Given the description of an element on the screen output the (x, y) to click on. 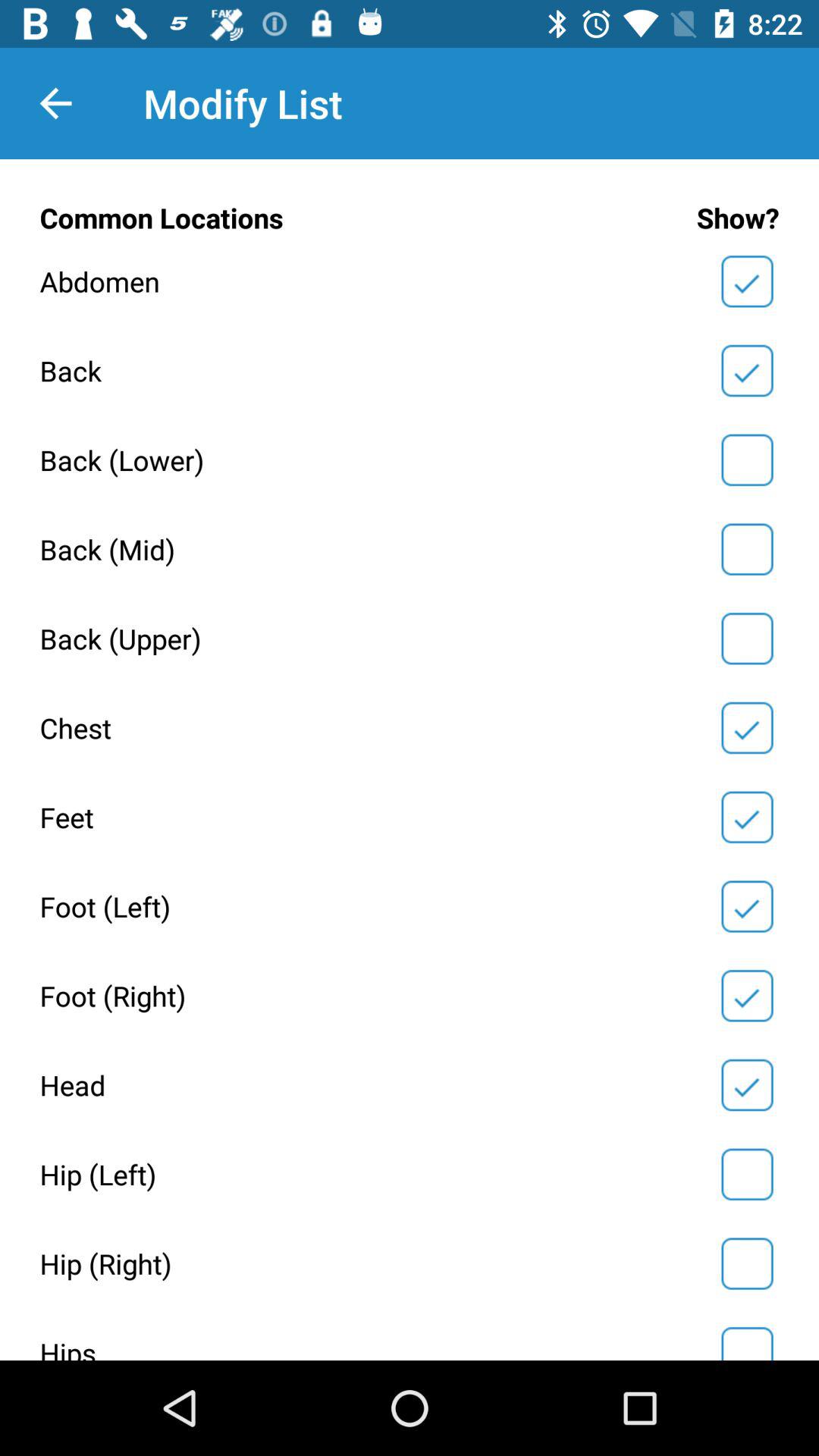
toggle to allow modifications to the lower back (747, 459)
